Given the description of an element on the screen output the (x, y) to click on. 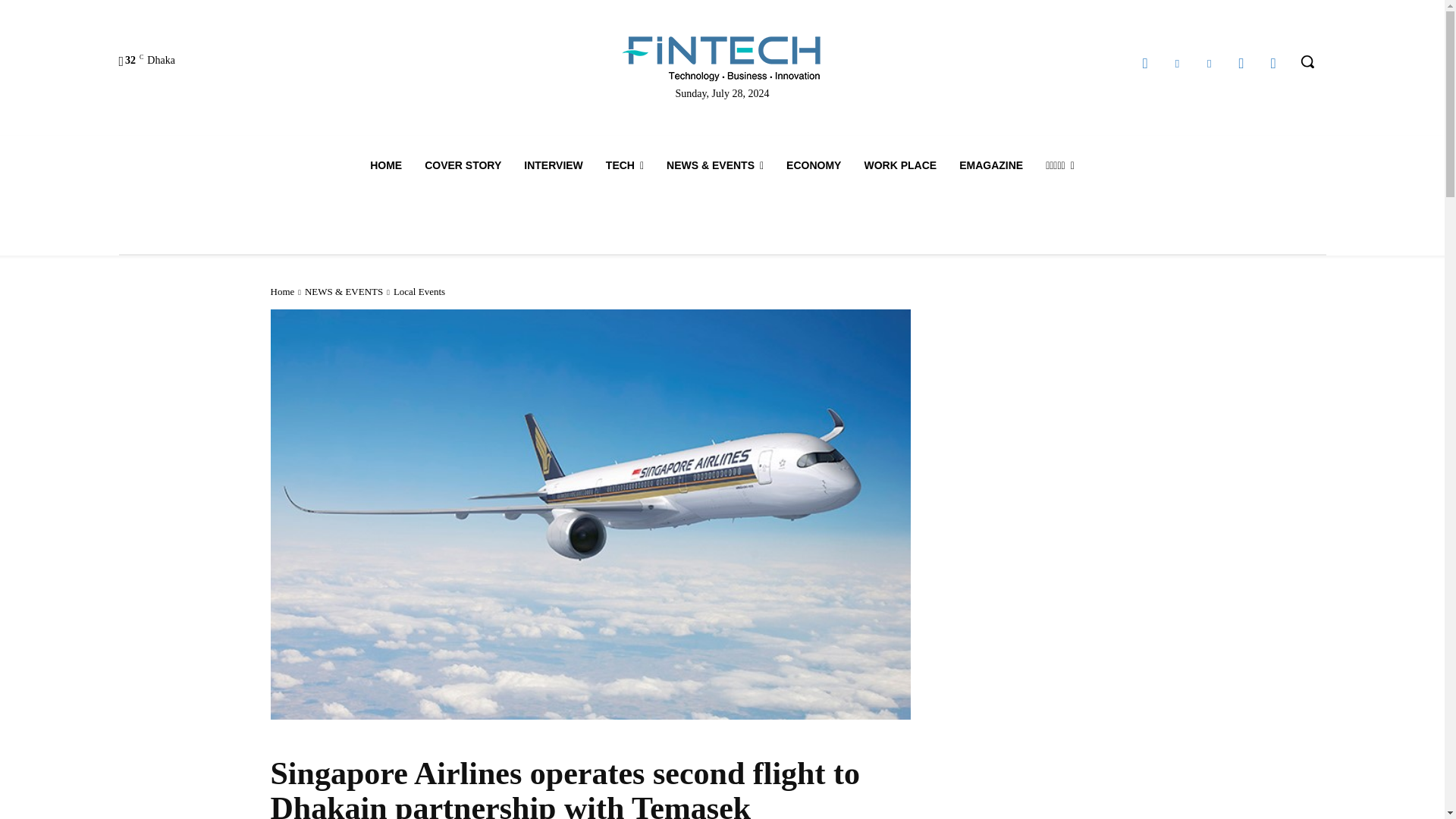
Linkedin (1176, 63)
Youtube (1272, 63)
Pinterest (1208, 63)
COVER STORY (462, 164)
INTERVIEW (553, 164)
RSS (1240, 63)
Facebook (1144, 63)
TECH (624, 164)
View all posts in Local Events (419, 291)
HOME (385, 164)
